Given the description of an element on the screen output the (x, y) to click on. 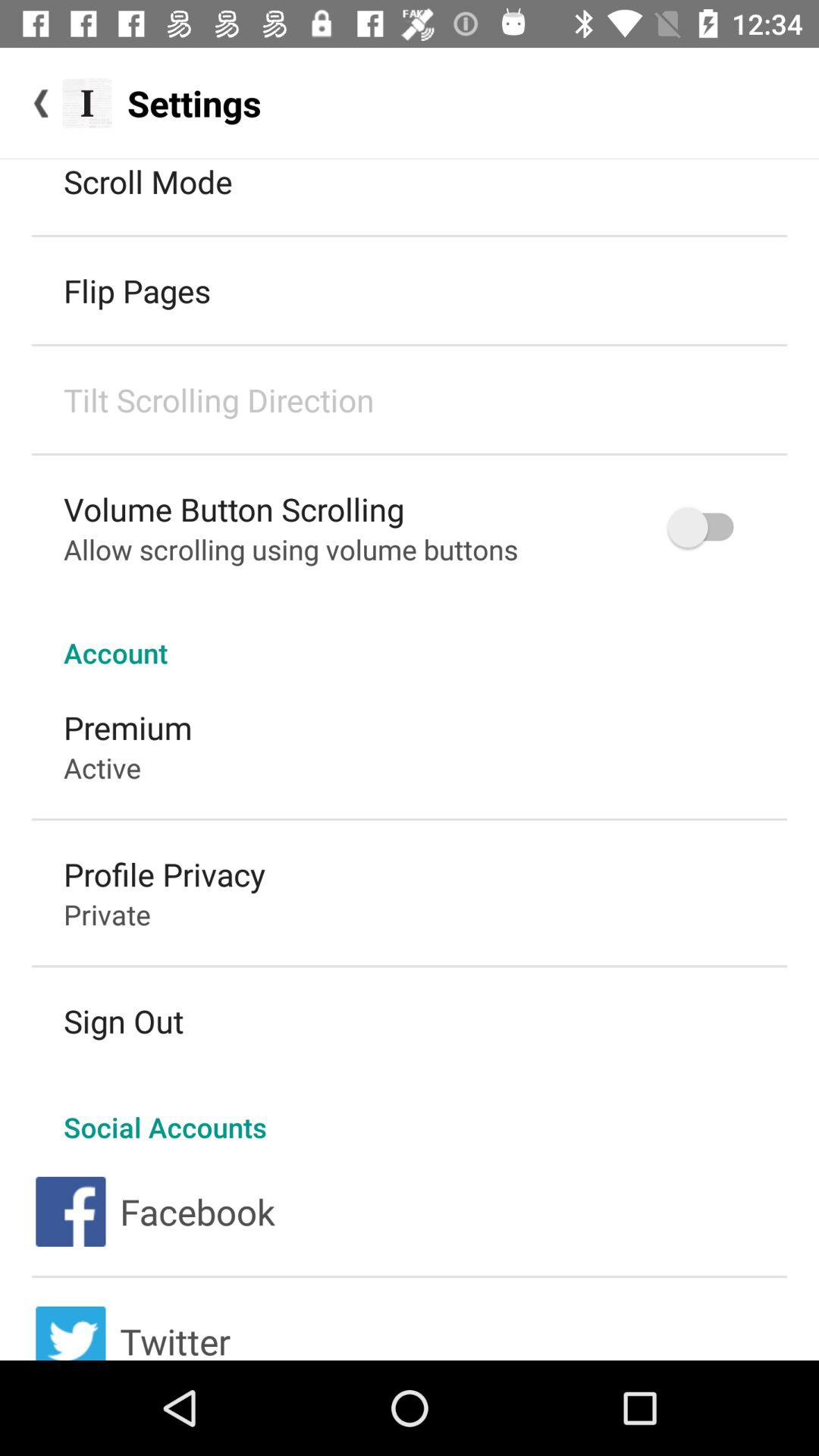
open the icon on the right (707, 527)
